Given the description of an element on the screen output the (x, y) to click on. 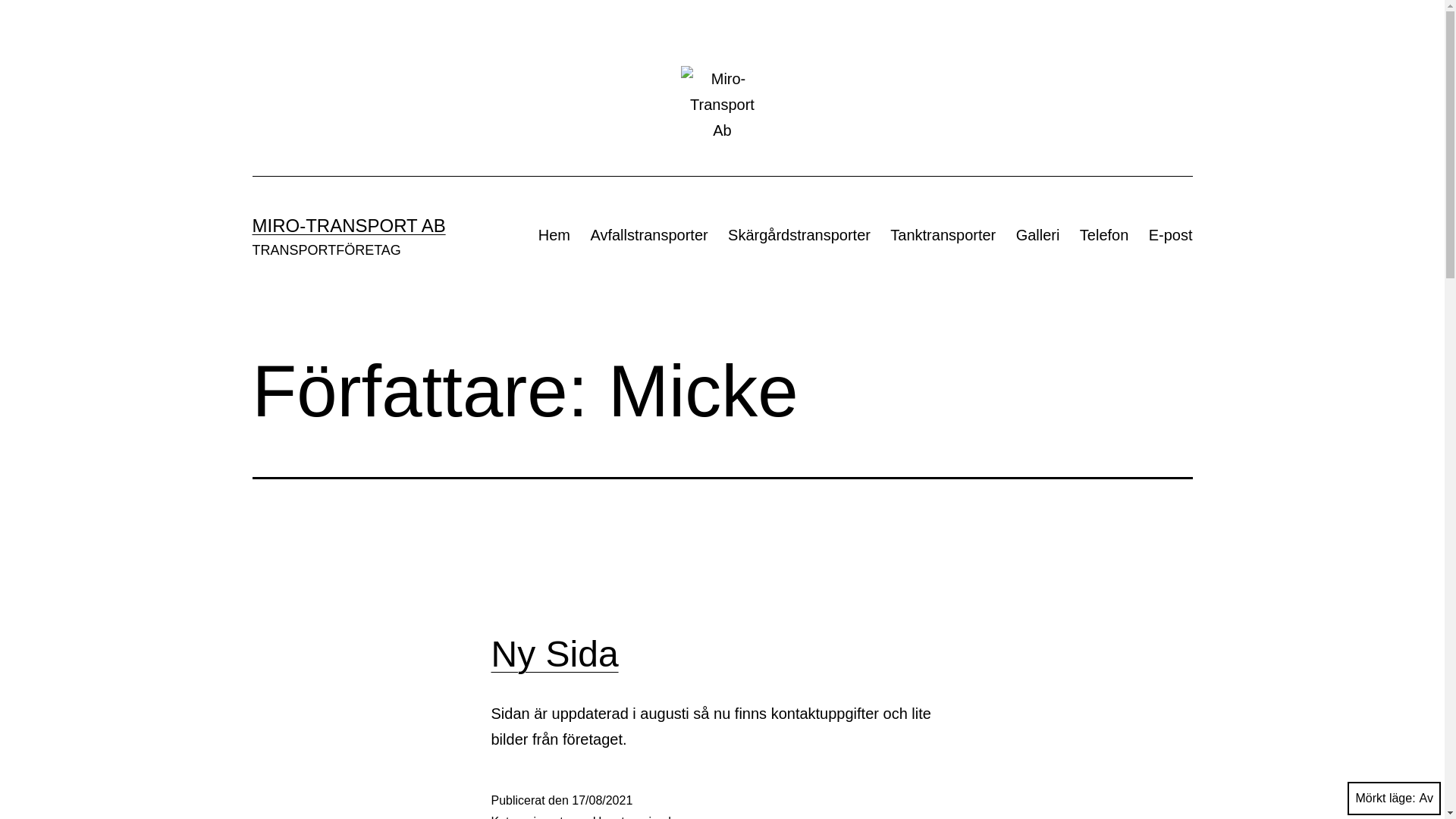
Hem Element type: text (554, 235)
Ny Sida Element type: text (554, 653)
Tanktransporter Element type: text (942, 235)
E-post Element type: text (1170, 235)
Telefon Element type: text (1104, 235)
Avfallstransporter Element type: text (649, 235)
MIRO-TRANSPORT AB Element type: text (348, 225)
Galleri Element type: text (1037, 235)
